Given the description of an element on the screen output the (x, y) to click on. 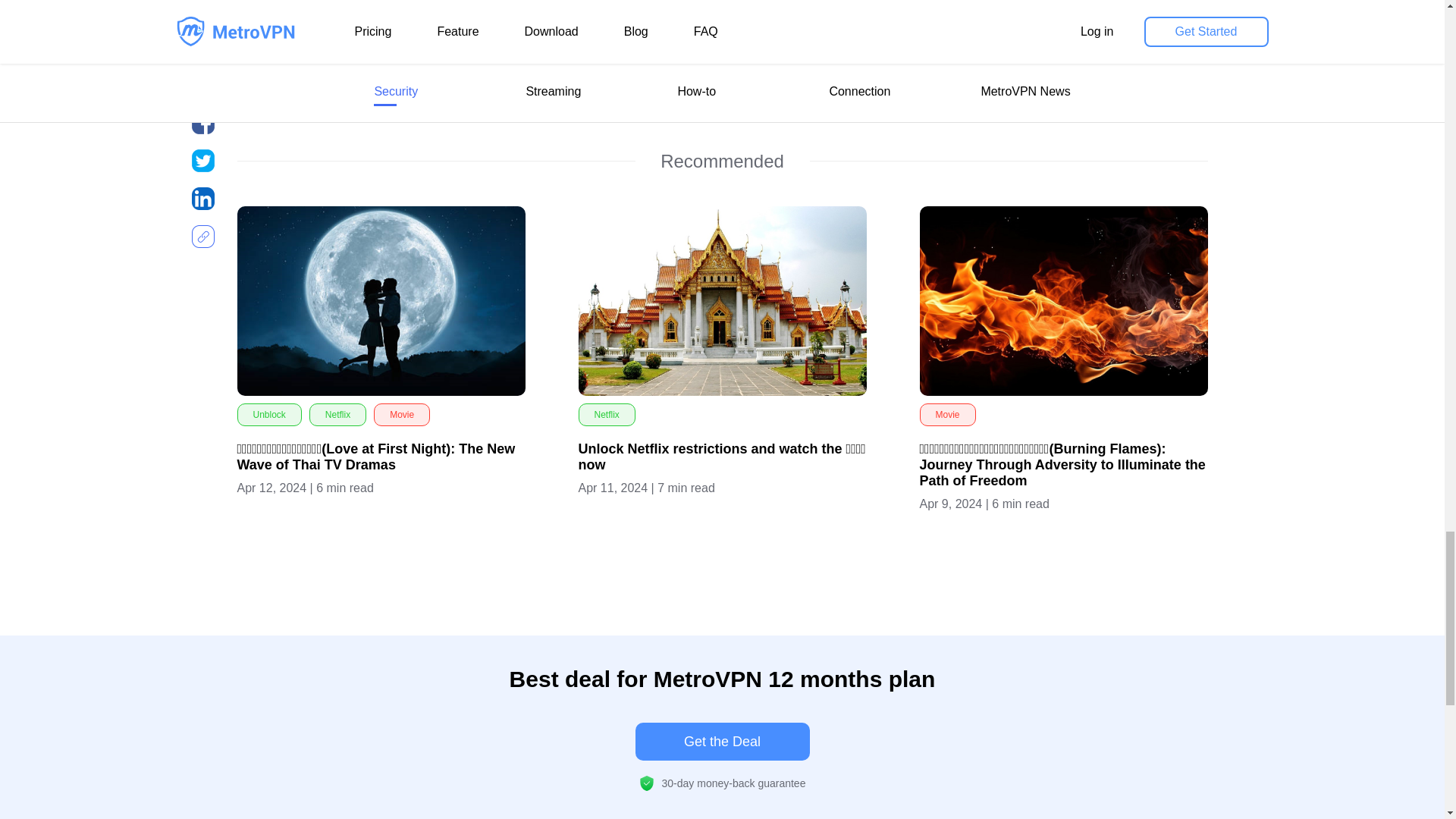
MetroVPN (401, 59)
Get the Deal (721, 741)
